Given the description of an element on the screen output the (x, y) to click on. 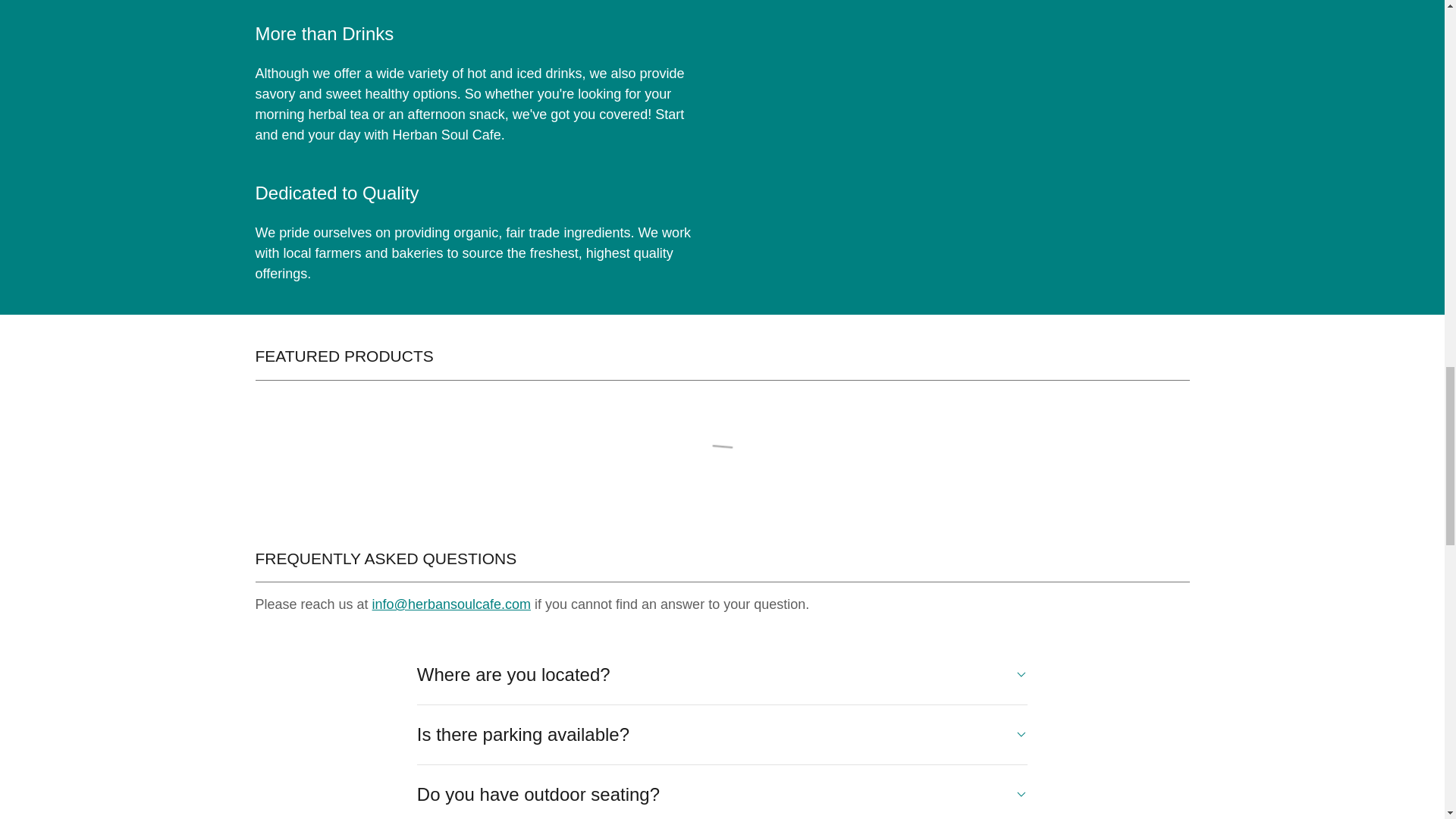
Where are you located? (721, 674)
Is there parking available? (721, 734)
Do you have outdoor seating? (721, 794)
